Given the description of an element on the screen output the (x, y) to click on. 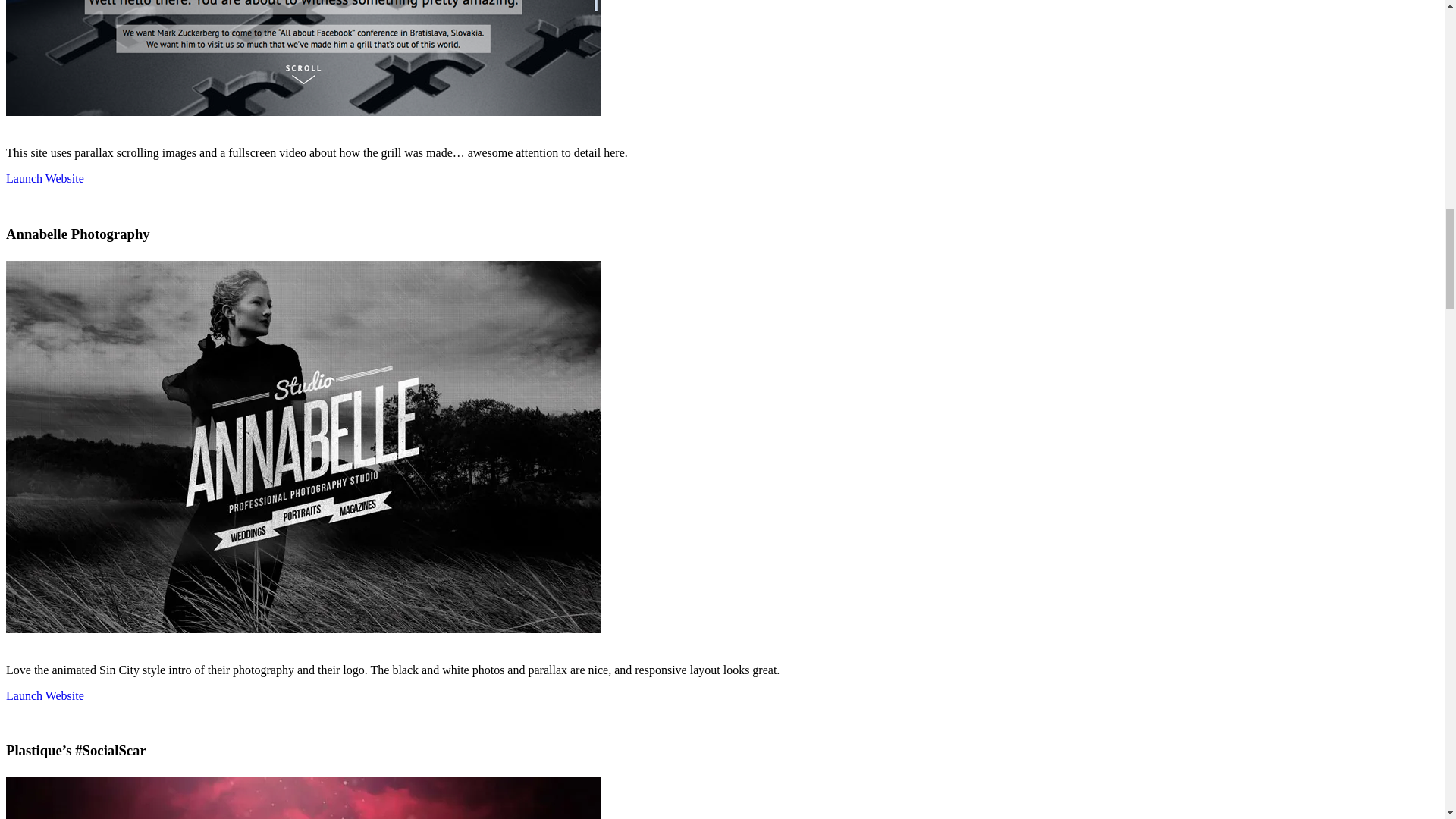
Launch Website (44, 694)
Launch Website (44, 178)
